Given the description of an element on the screen output the (x, y) to click on. 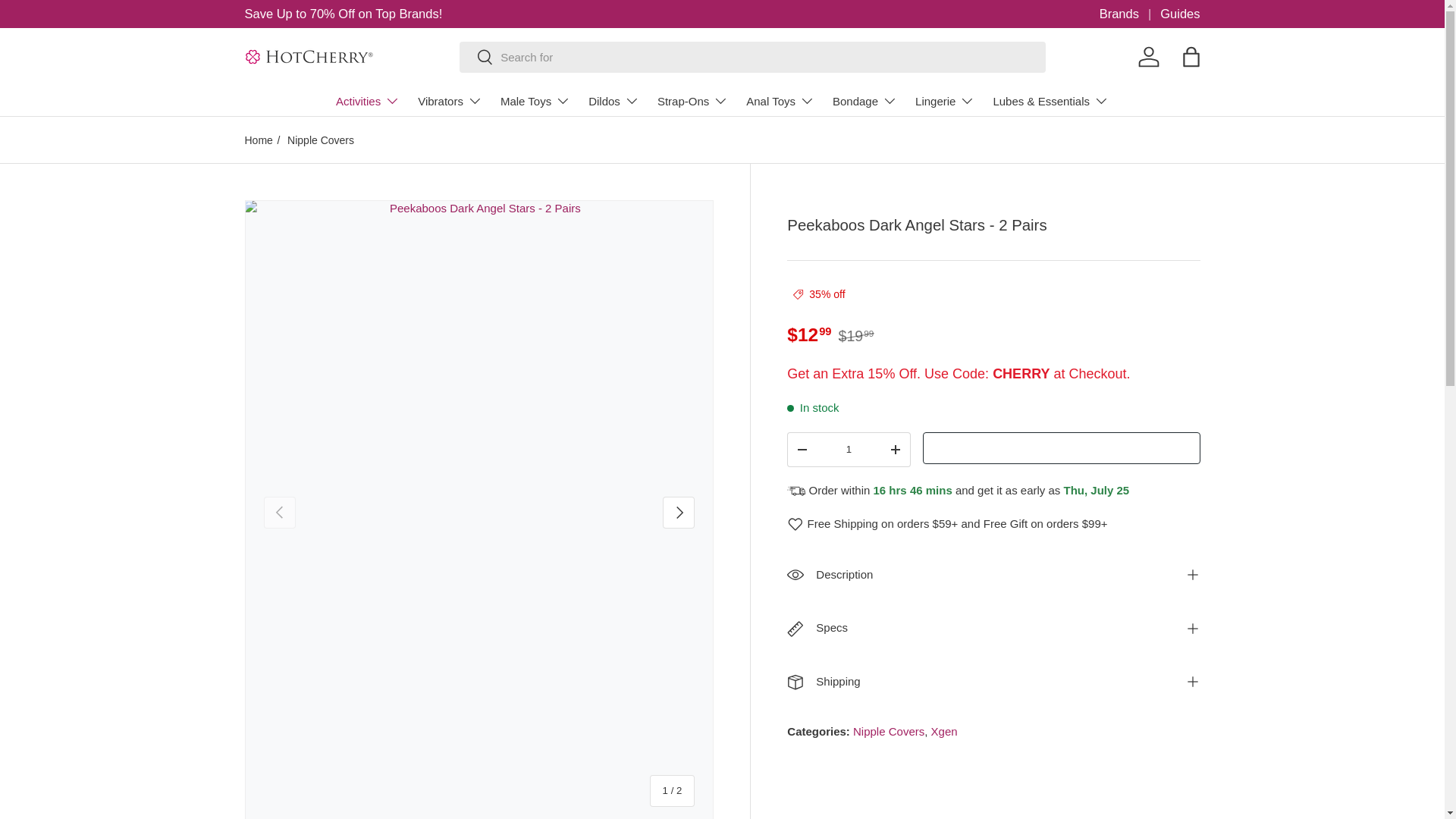
Log in (1147, 56)
Bag (1190, 56)
Guides (1179, 13)
Vibrators (449, 100)
Brands (1129, 13)
Activities (367, 100)
Skip to content (68, 21)
1 (848, 449)
Search (476, 58)
